Given the description of an element on the screen output the (x, y) to click on. 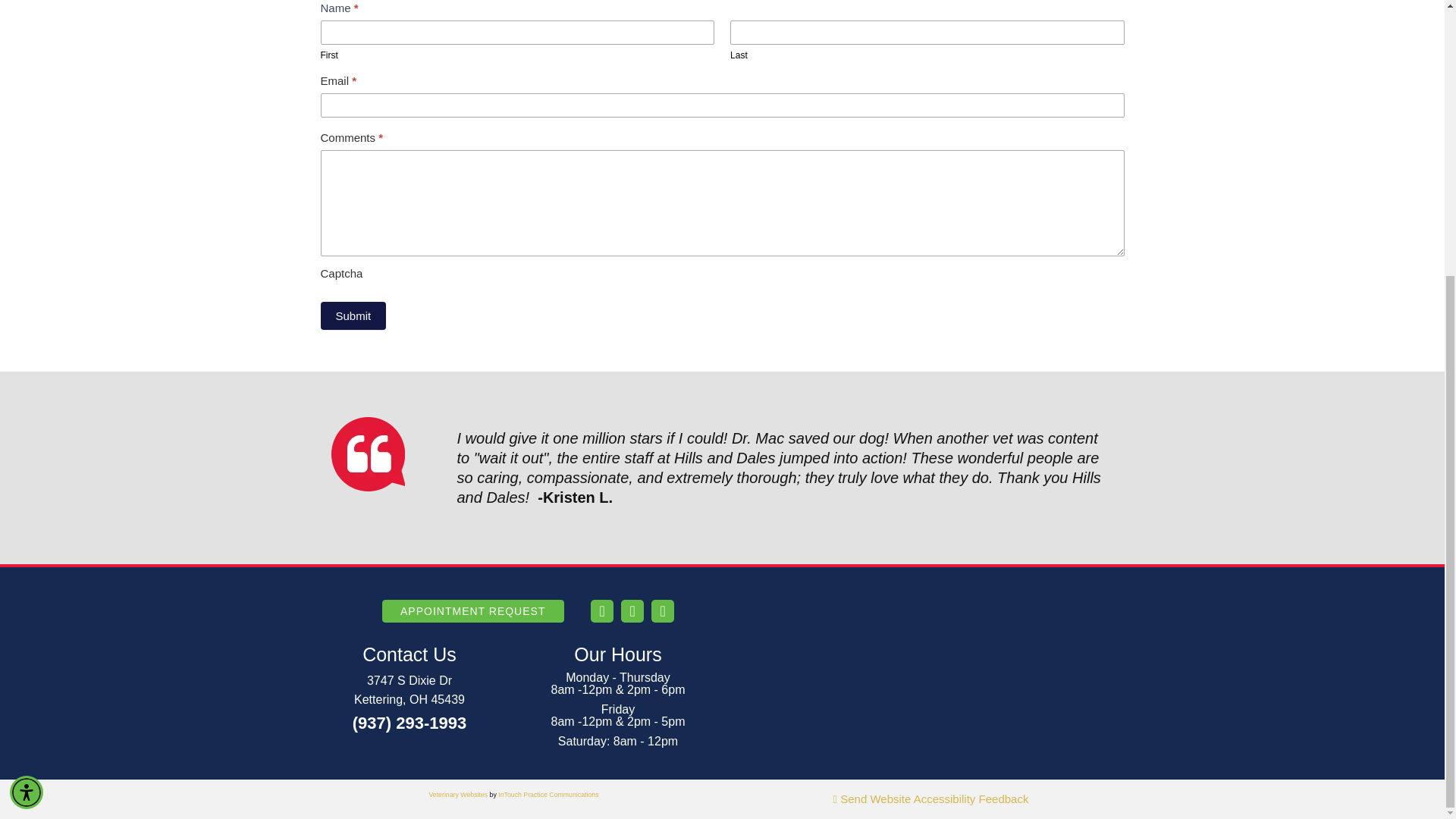
redquote (367, 453)
Accessibility Menu (26, 384)
